Given the description of an element on the screen output the (x, y) to click on. 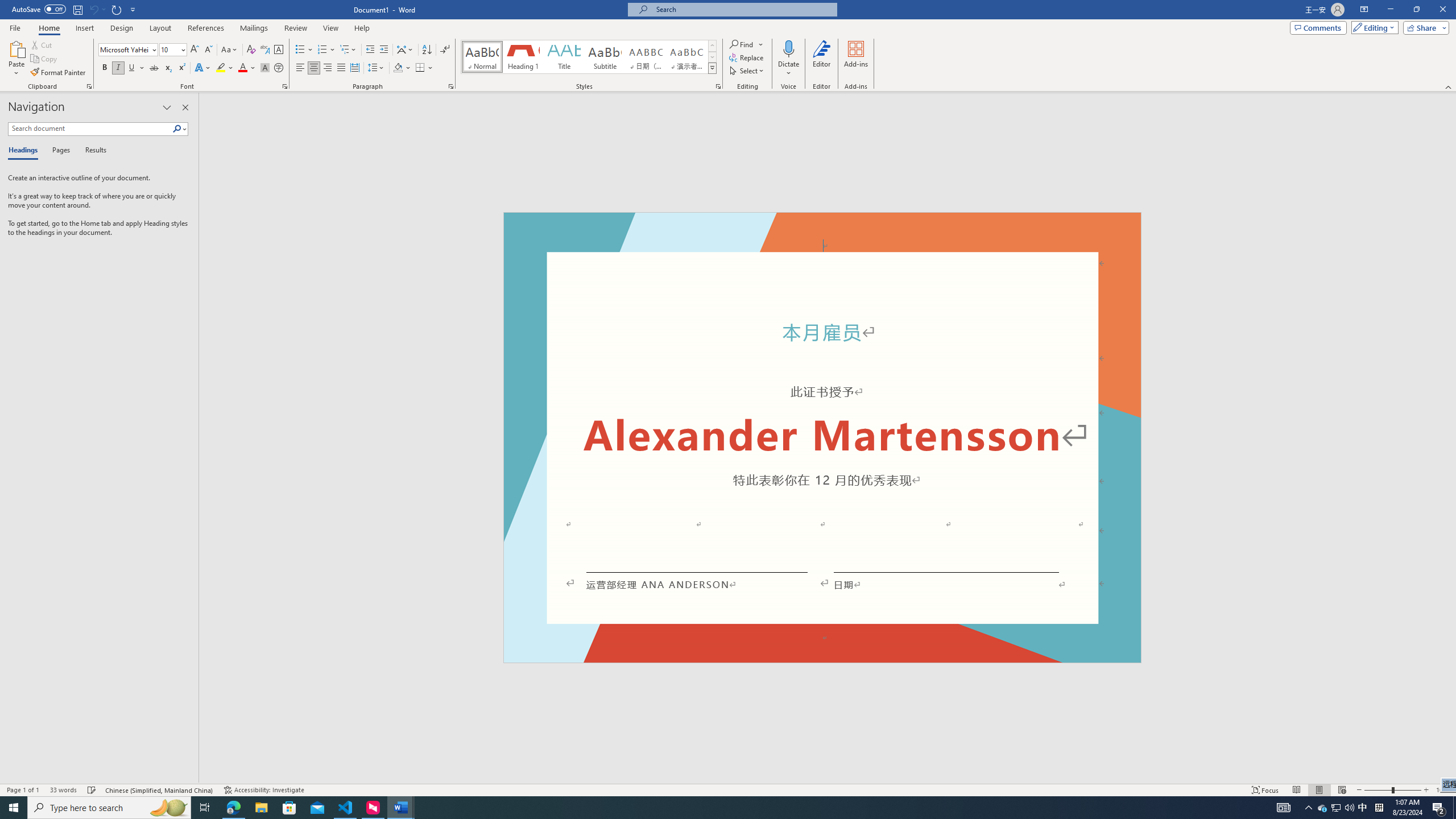
Can't Undo (92, 9)
